Given the description of an element on the screen output the (x, y) to click on. 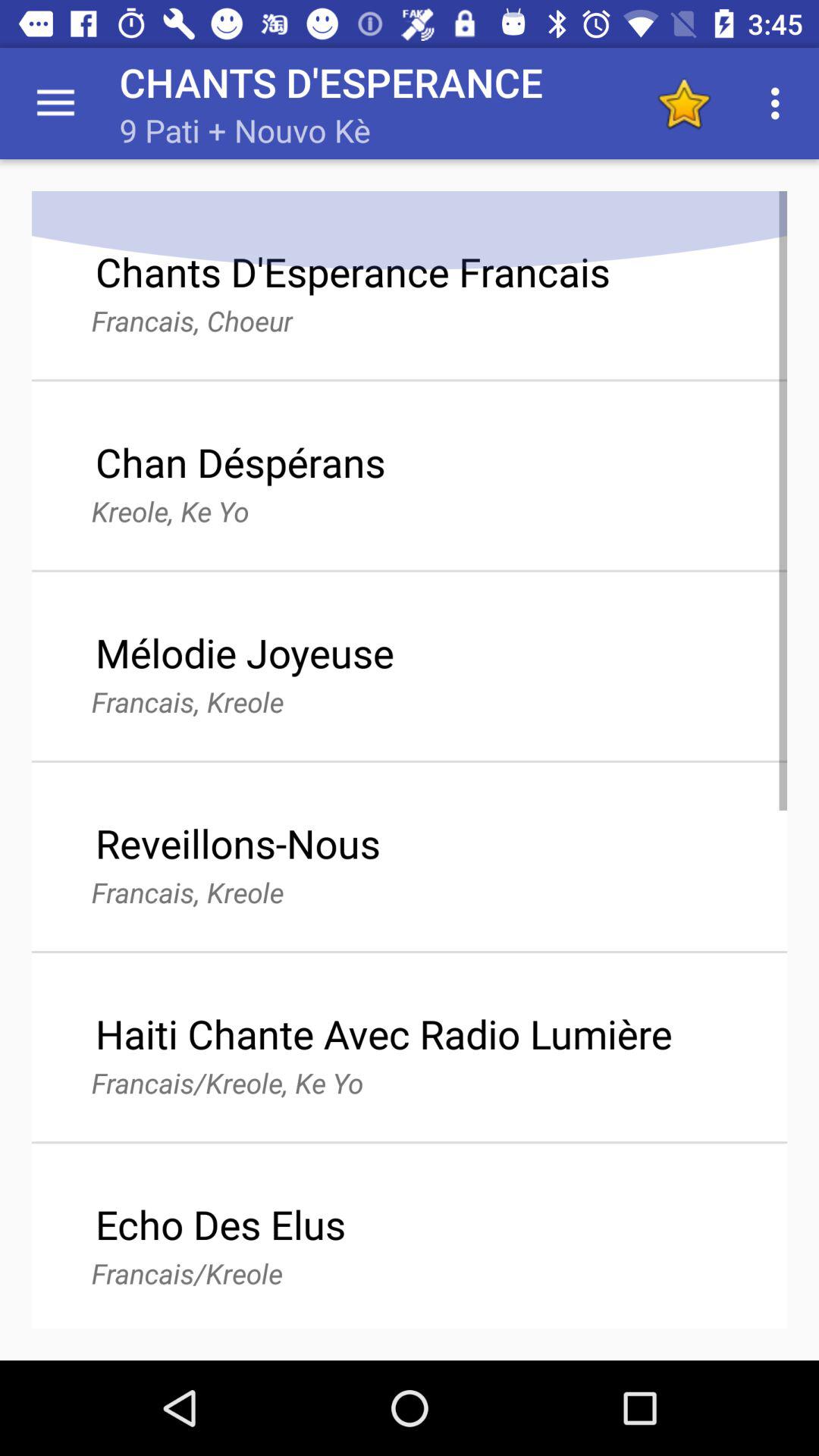
favorite toggle (683, 103)
